Given the description of an element on the screen output the (x, y) to click on. 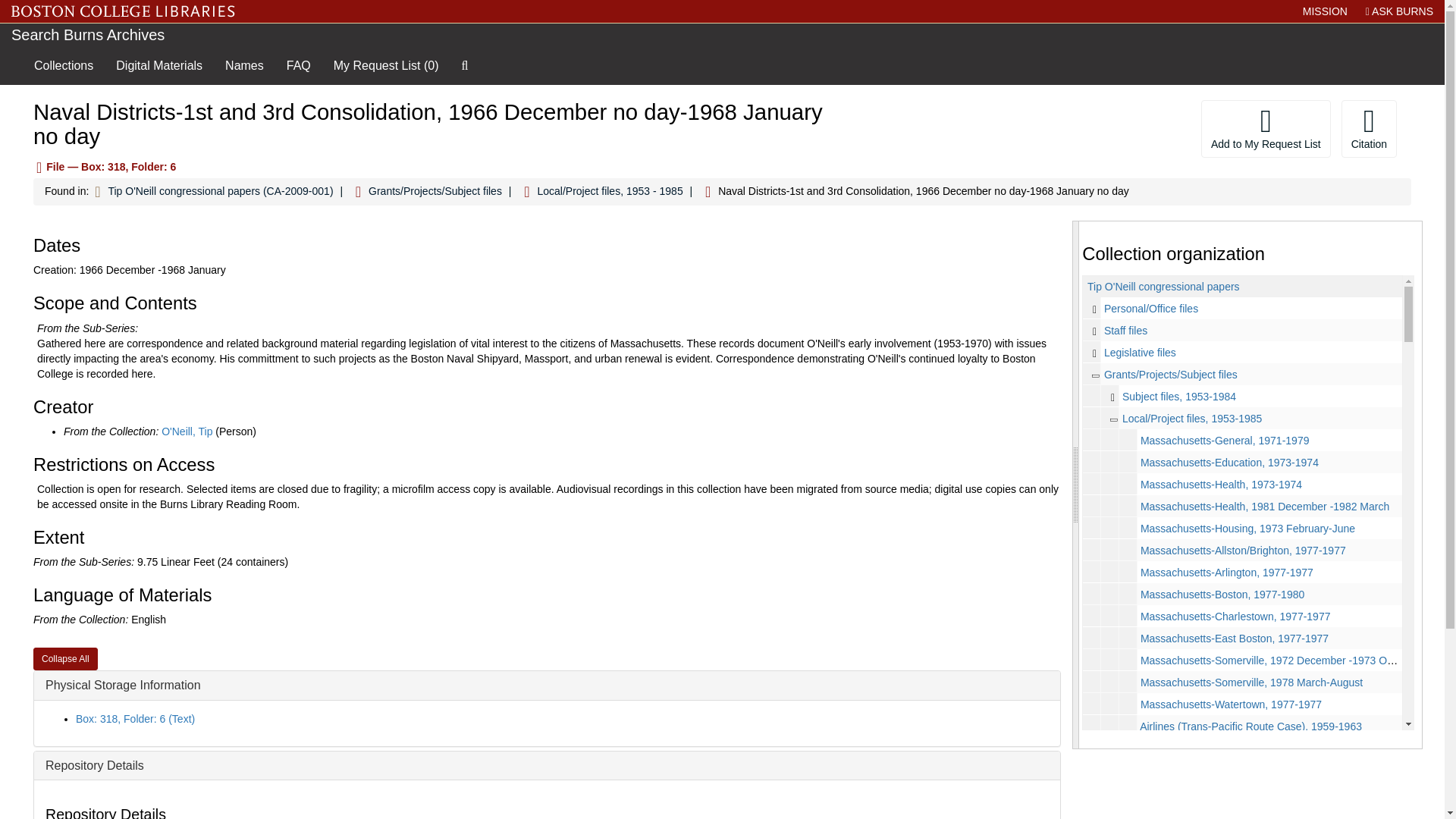
Subject files, 1953-1984 (1179, 396)
Names (244, 65)
Collections (63, 65)
Legislative files (1139, 352)
Tip O'Neill congressional papers (1163, 286)
Digital Materials (159, 65)
Citation (1368, 128)
Page Actions (1130, 128)
Add to My Request List (1265, 128)
Subject files (1242, 395)
Add to My Request List (1265, 128)
Massachusetts-General (1242, 440)
Go to Boston College Libraries (122, 11)
FAQ (298, 65)
